Given the description of an element on the screen output the (x, y) to click on. 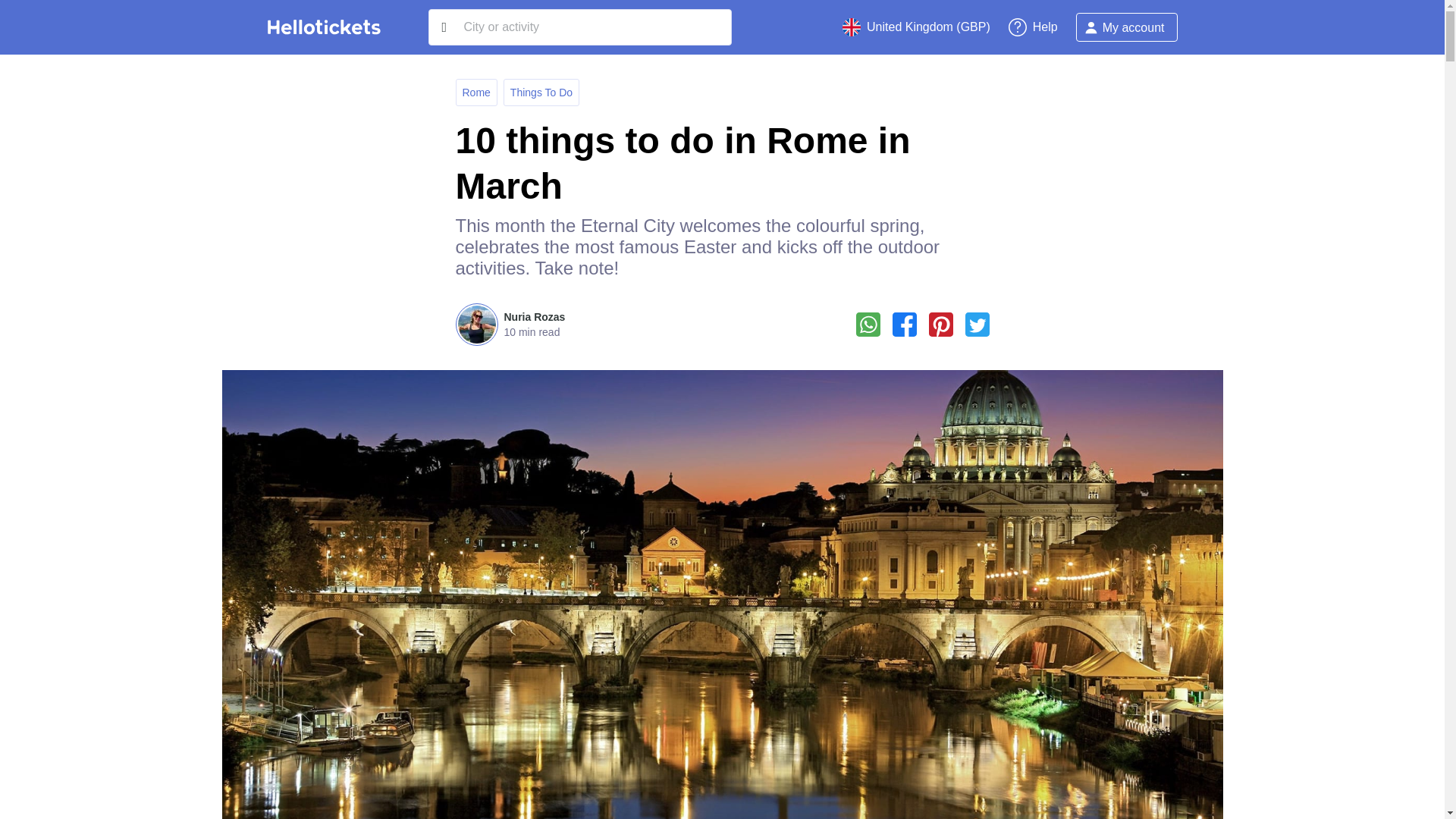
Help (1032, 27)
Rome (476, 92)
Things To Do (540, 92)
My account (1126, 27)
